Given the description of an element on the screen output the (x, y) to click on. 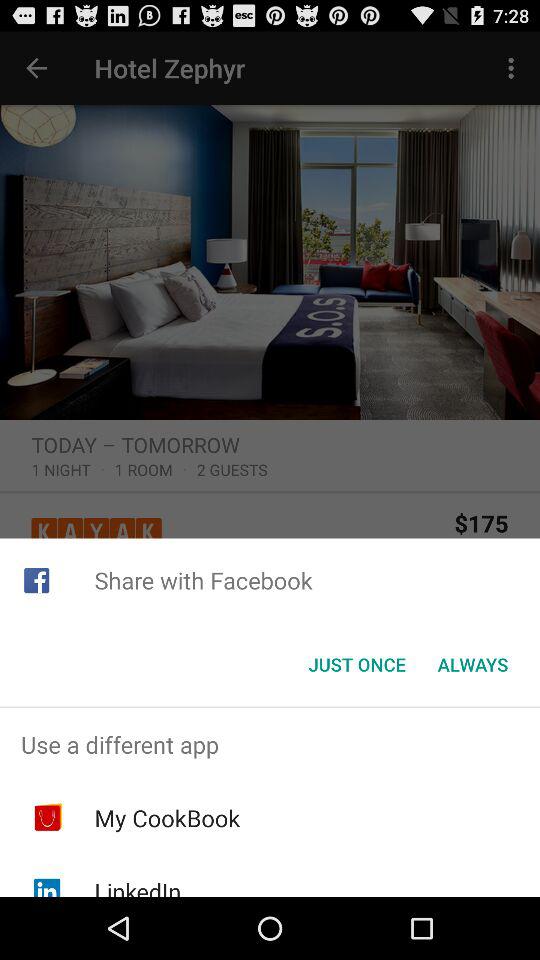
select the icon above the linkedin (167, 817)
